Given the description of an element on the screen output the (x, y) to click on. 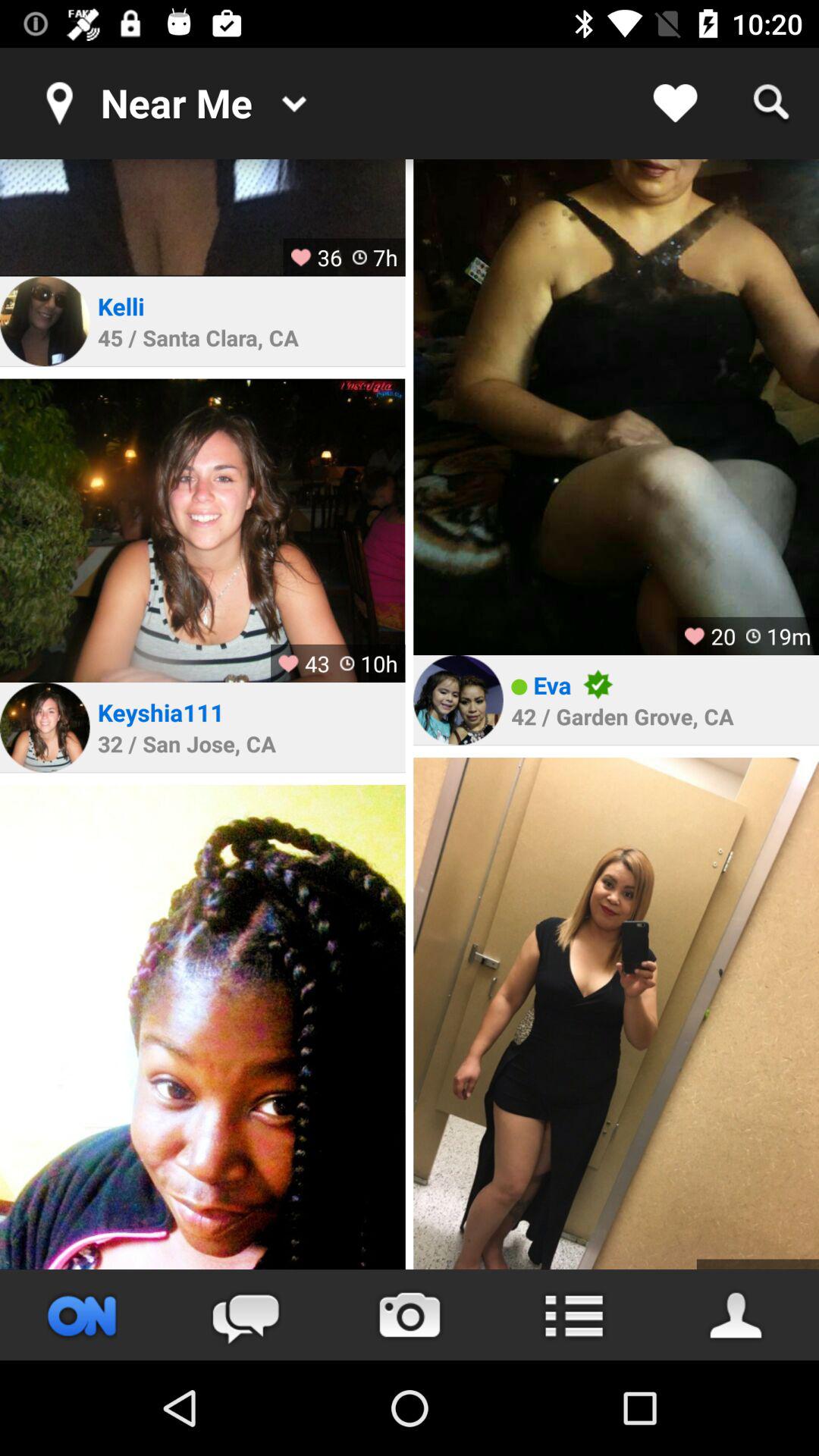
open kelli 's profile (44, 321)
